Given the description of an element on the screen output the (x, y) to click on. 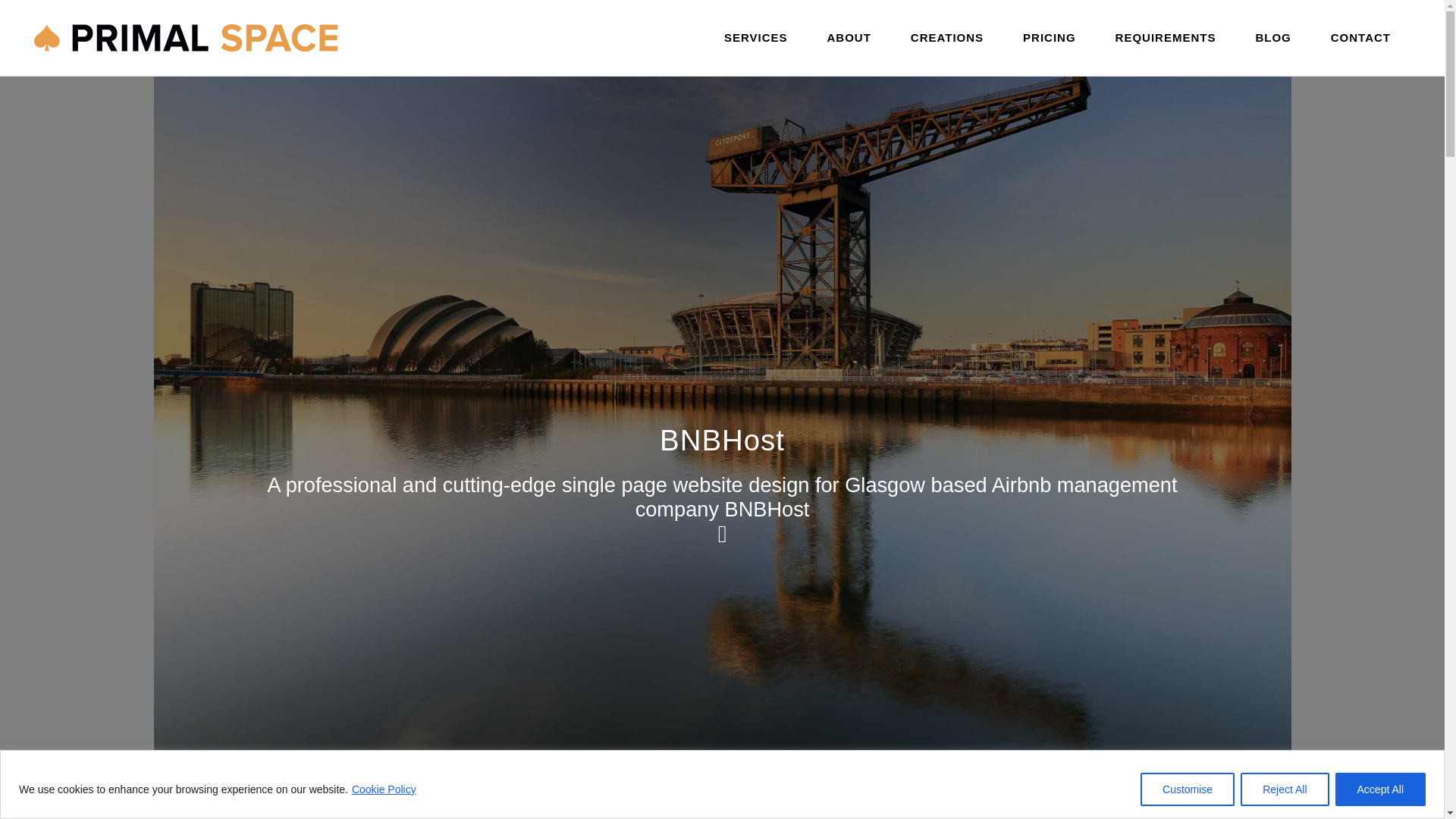
Reject All (1283, 788)
SERVICES (756, 38)
Customise (1187, 788)
Accept All (1380, 788)
Cookie Policy (383, 789)
